Given the description of an element on the screen output the (x, y) to click on. 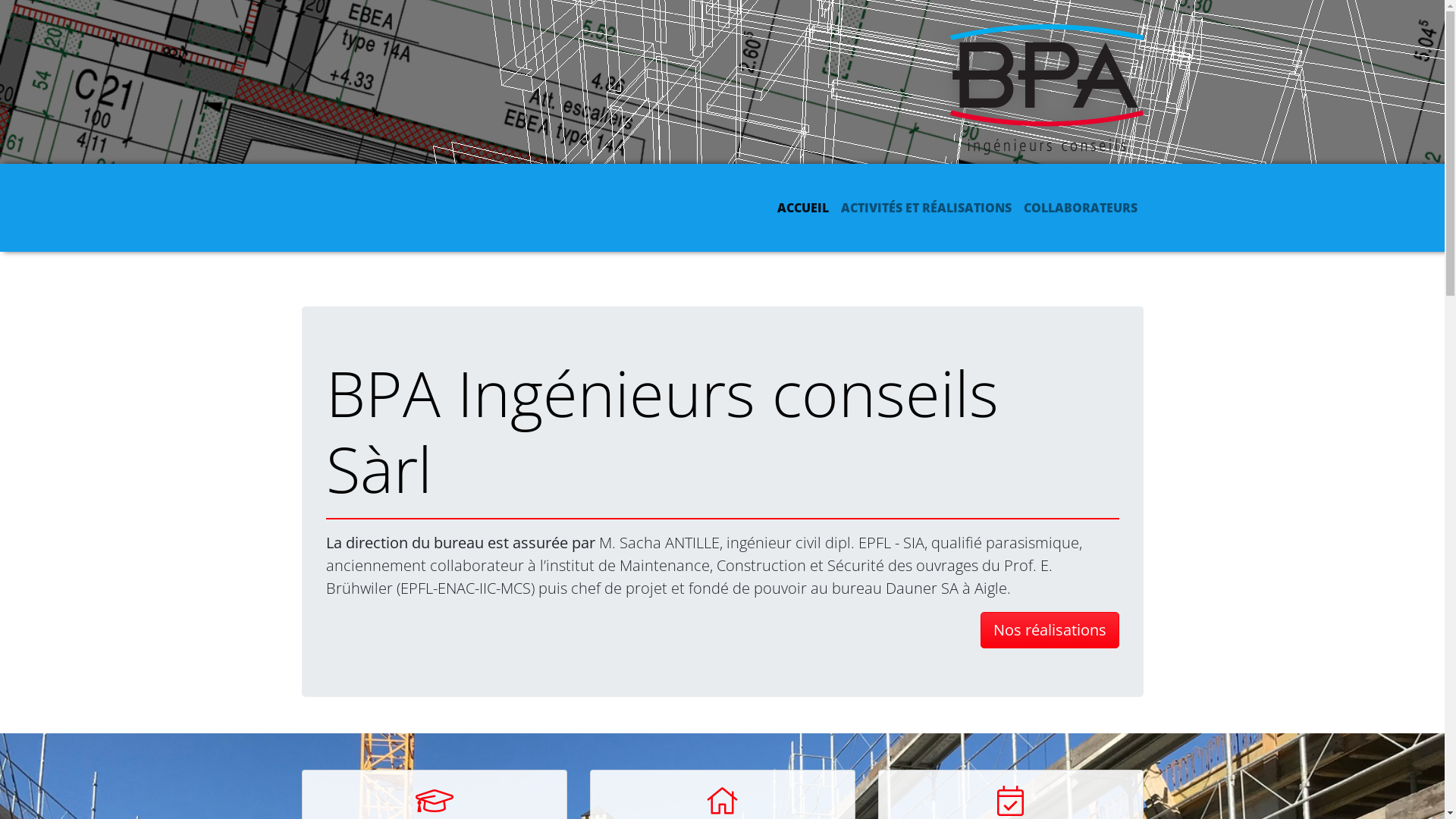
ACCUEIL
(CURRENT) Element type: text (802, 207)
COLLABORATEURS Element type: text (1080, 207)
